Given the description of an element on the screen output the (x, y) to click on. 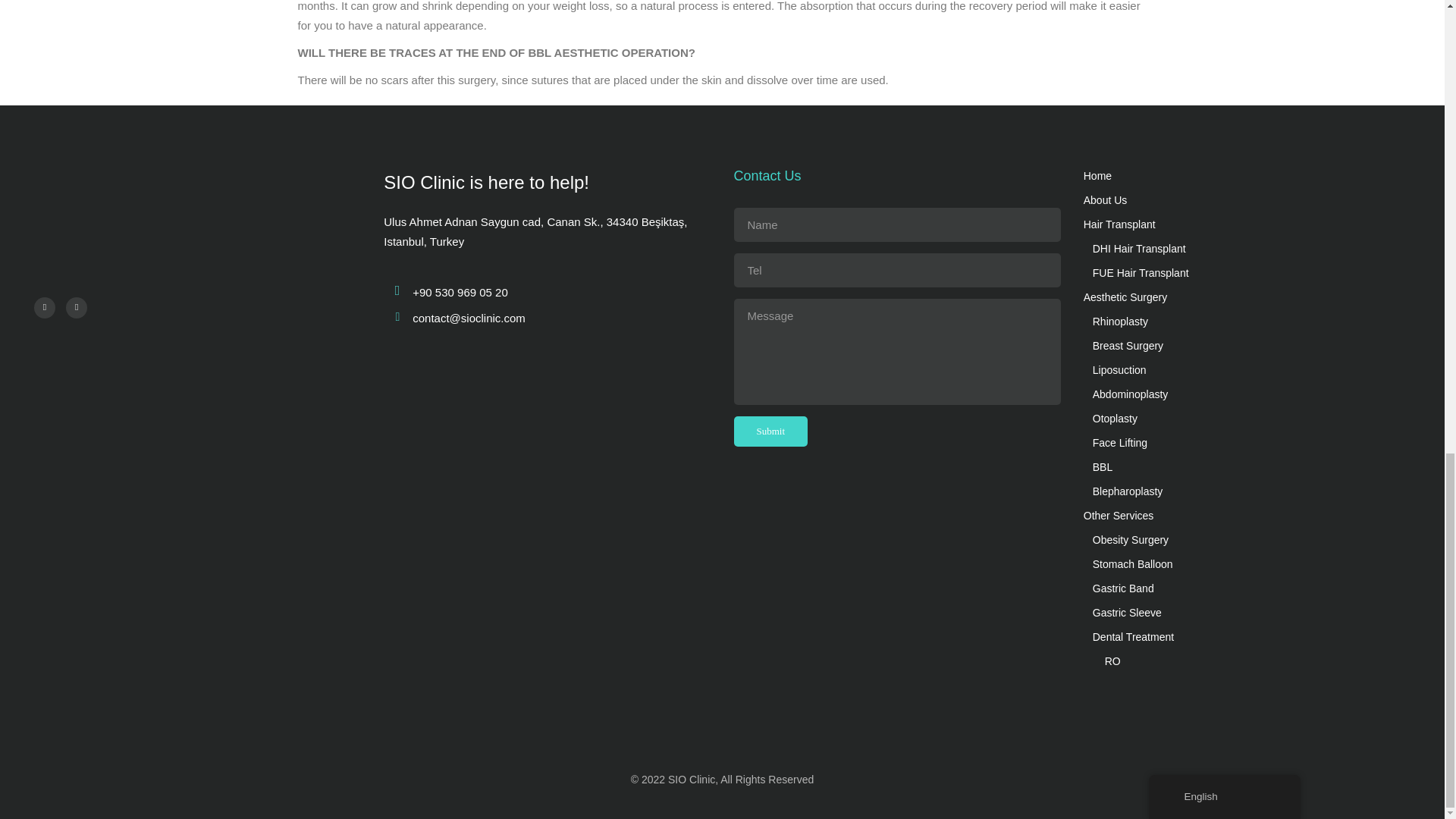
Submit (770, 431)
